Given the description of an element on the screen output the (x, y) to click on. 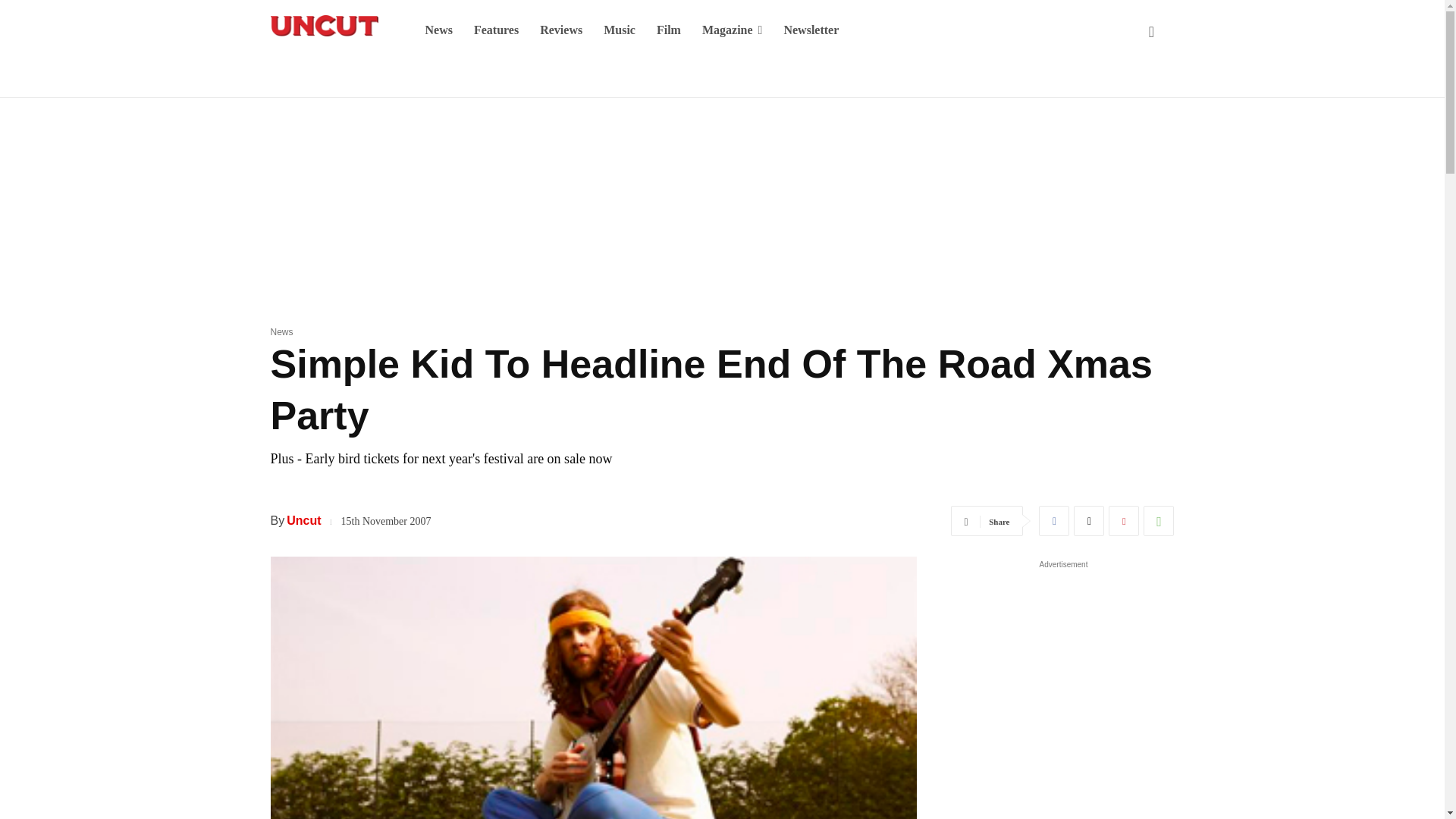
Pinterest (1123, 521)
Magazine (732, 30)
WhatsApp (1157, 521)
Twitter (1088, 521)
View all posts in News (280, 331)
Features (496, 30)
Uncut Logo (323, 25)
Reviews (560, 30)
Facebook (1053, 521)
Newsletter (810, 30)
